Given the description of an element on the screen output the (x, y) to click on. 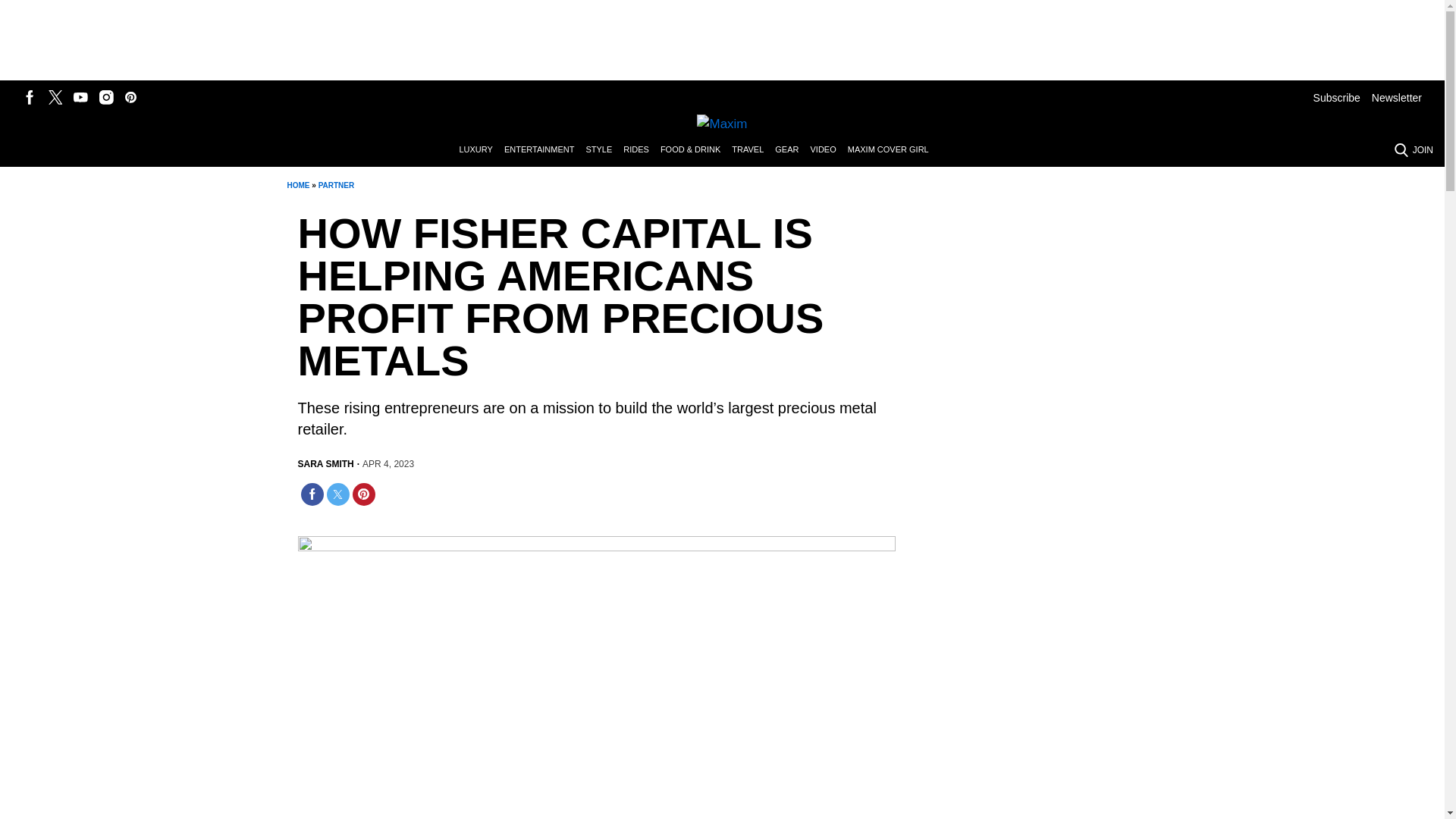
RIDES (642, 150)
TRAVEL (753, 150)
PARTNER (336, 184)
Subscribe (1336, 97)
Share on Twitter (337, 493)
Follow us on Facebook (30, 97)
Share on Facebook (311, 493)
HOME (297, 184)
STYLE (604, 150)
Follow us on Youtube (80, 97)
VIDEO (828, 150)
MAXIM COVER GIRL (893, 150)
Follow us on Twitter (55, 97)
Posts by Sara Smith (325, 463)
Follow us on Instagram (106, 97)
